Given the description of an element on the screen output the (x, y) to click on. 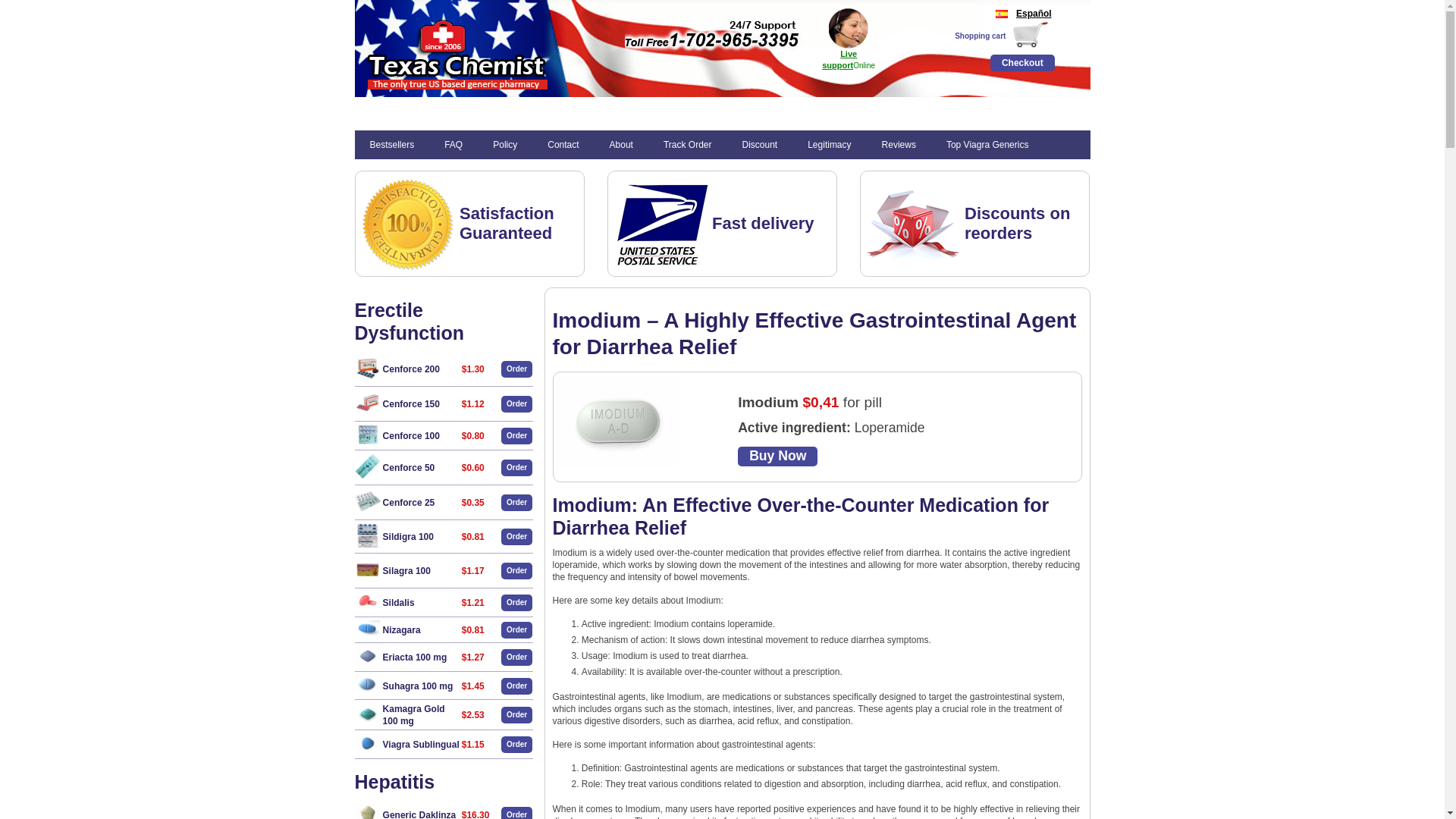
Fast delivery (762, 222)
FAQ (453, 144)
Policy (504, 144)
Track Order (686, 144)
Shopping cart (980, 35)
Legitimacy (829, 144)
Discounts on reorders (1016, 222)
Satisfaction Guaranteed (507, 222)
Menu (370, 112)
Discount (759, 144)
Bestsellers (392, 144)
Checkout (1022, 62)
Live support (839, 58)
Contact (563, 144)
Checkout (1022, 62)
